Given the description of an element on the screen output the (x, y) to click on. 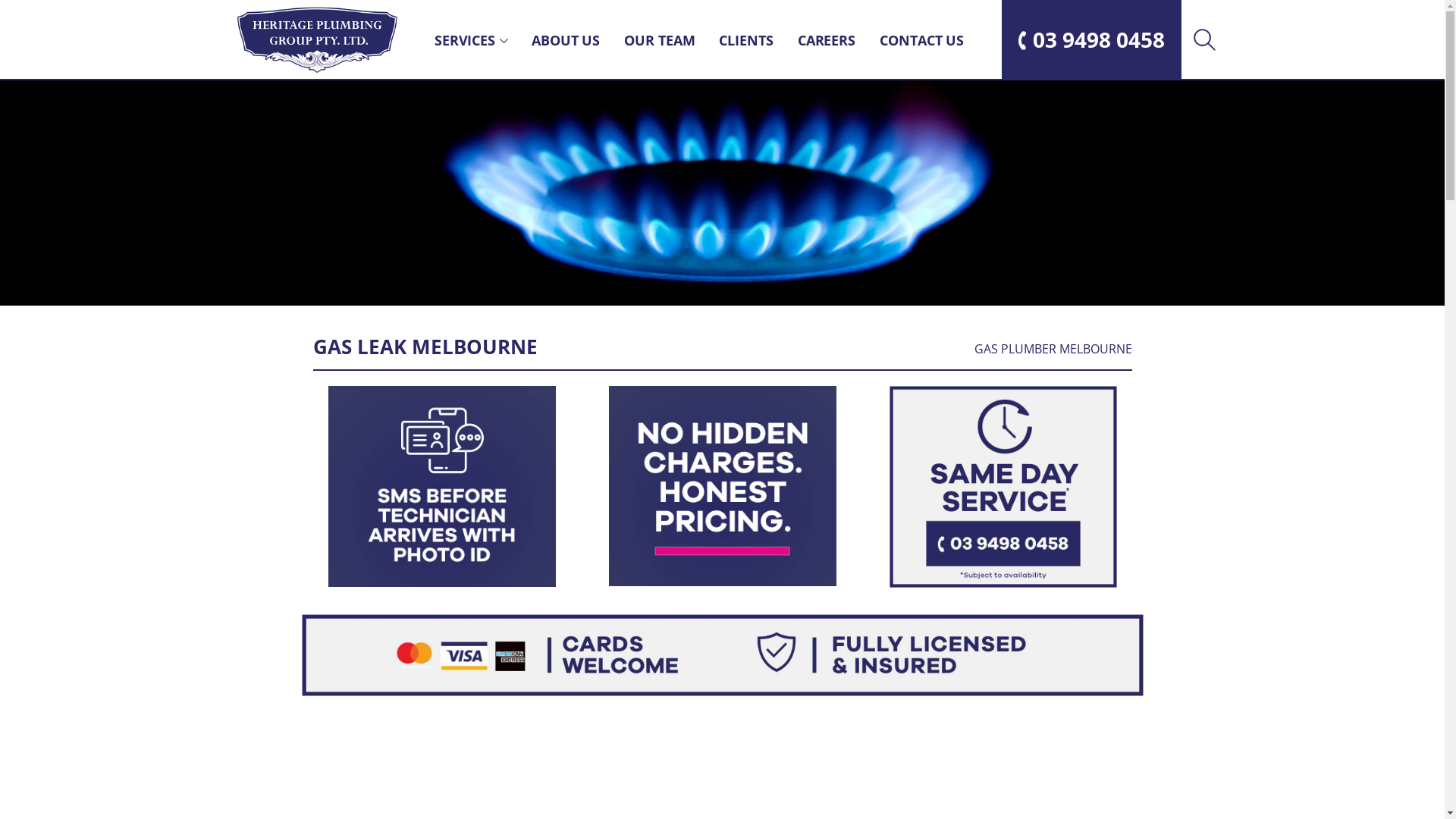
Search Element type: hover (1203, 39)
GAS PLUMBER MELBOURNE Element type: text (1052, 348)
CLIENTS Element type: text (745, 40)
03 9498 0458 Element type: text (1090, 39)
ABOUT US Element type: text (565, 40)
SERVICES Element type: text (464, 40)
Heritage Plumbing Group Element type: hover (316, 39)
CAREERS Element type: text (826, 40)
OUR TEAM Element type: text (659, 40)
CONTACT US Element type: text (921, 40)
